Given the description of an element on the screen output the (x, y) to click on. 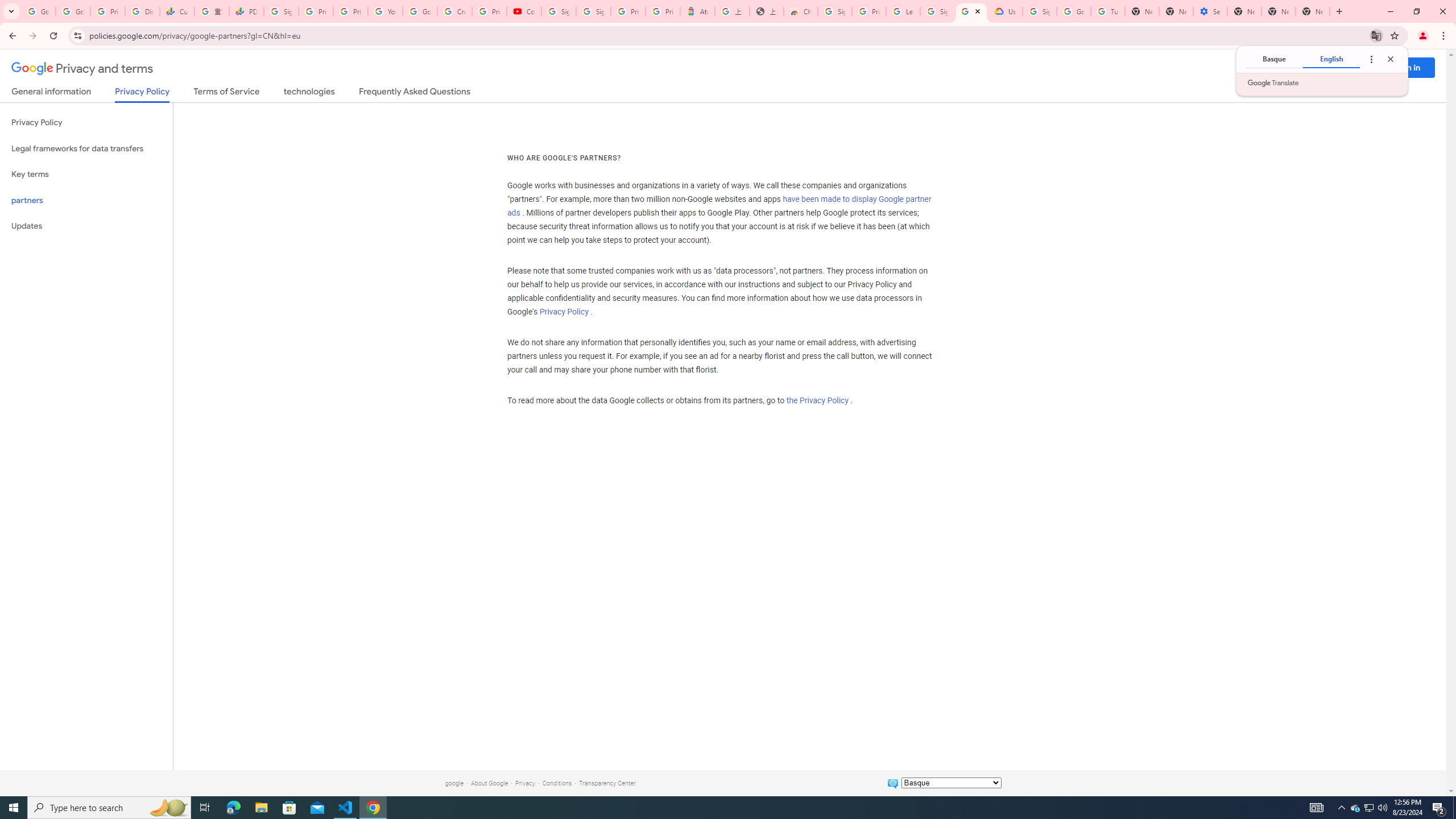
Privacy Policy . (565, 312)
About Google (489, 783)
Sign in - Google Accounts (1039, 11)
Frequently Asked Questions (414, 93)
Show desktop (1454, 807)
have been made to display Google partner ads (718, 206)
Turn cookies on or off - Computer - Google Account Help (1107, 11)
Google Account Help (419, 11)
Type here to search (108, 807)
Atour Hotel - Google hotels (697, 11)
